Given the description of an element on the screen output the (x, y) to click on. 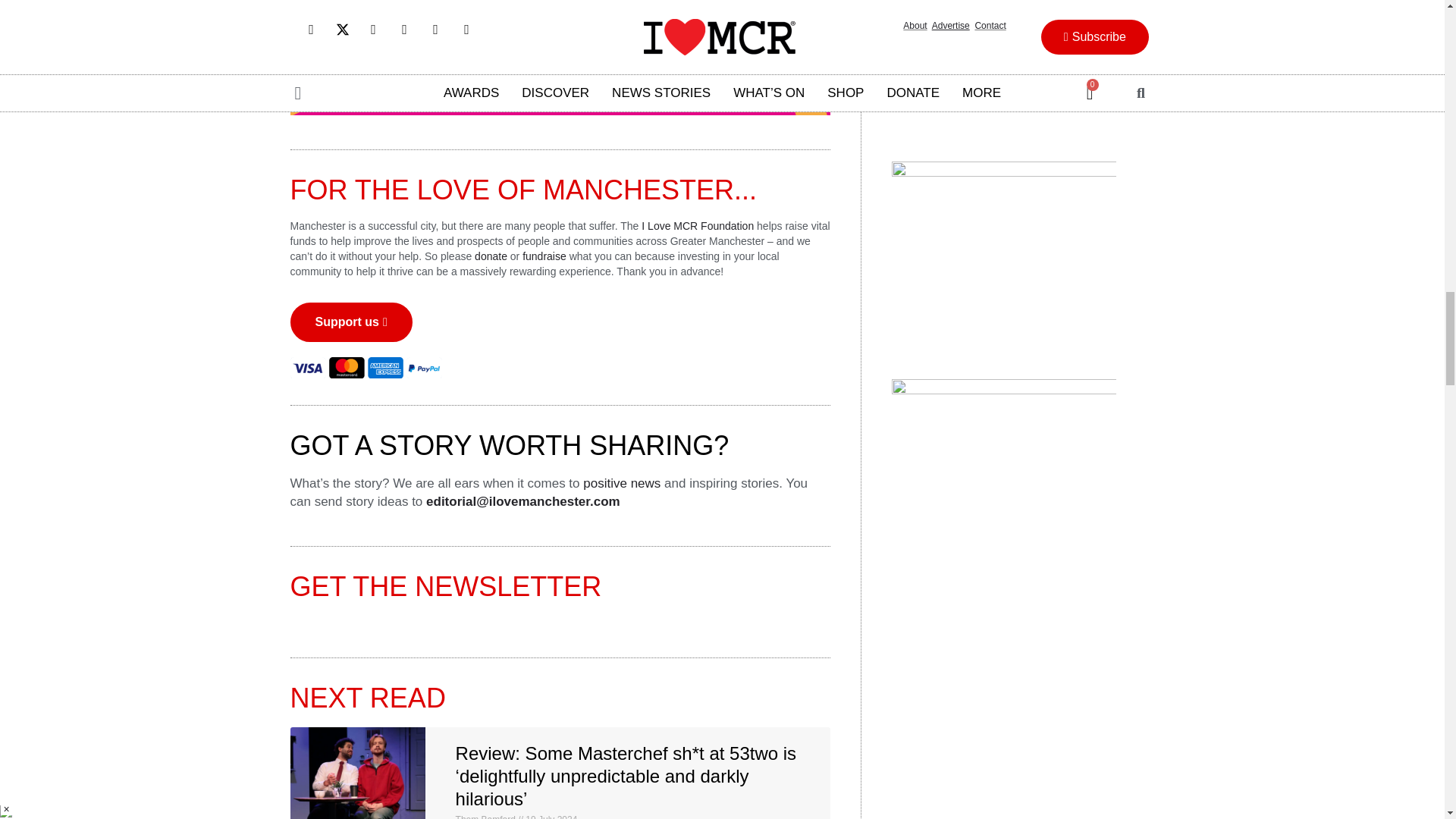
payment-methods (365, 367)
